Given the description of an element on the screen output the (x, y) to click on. 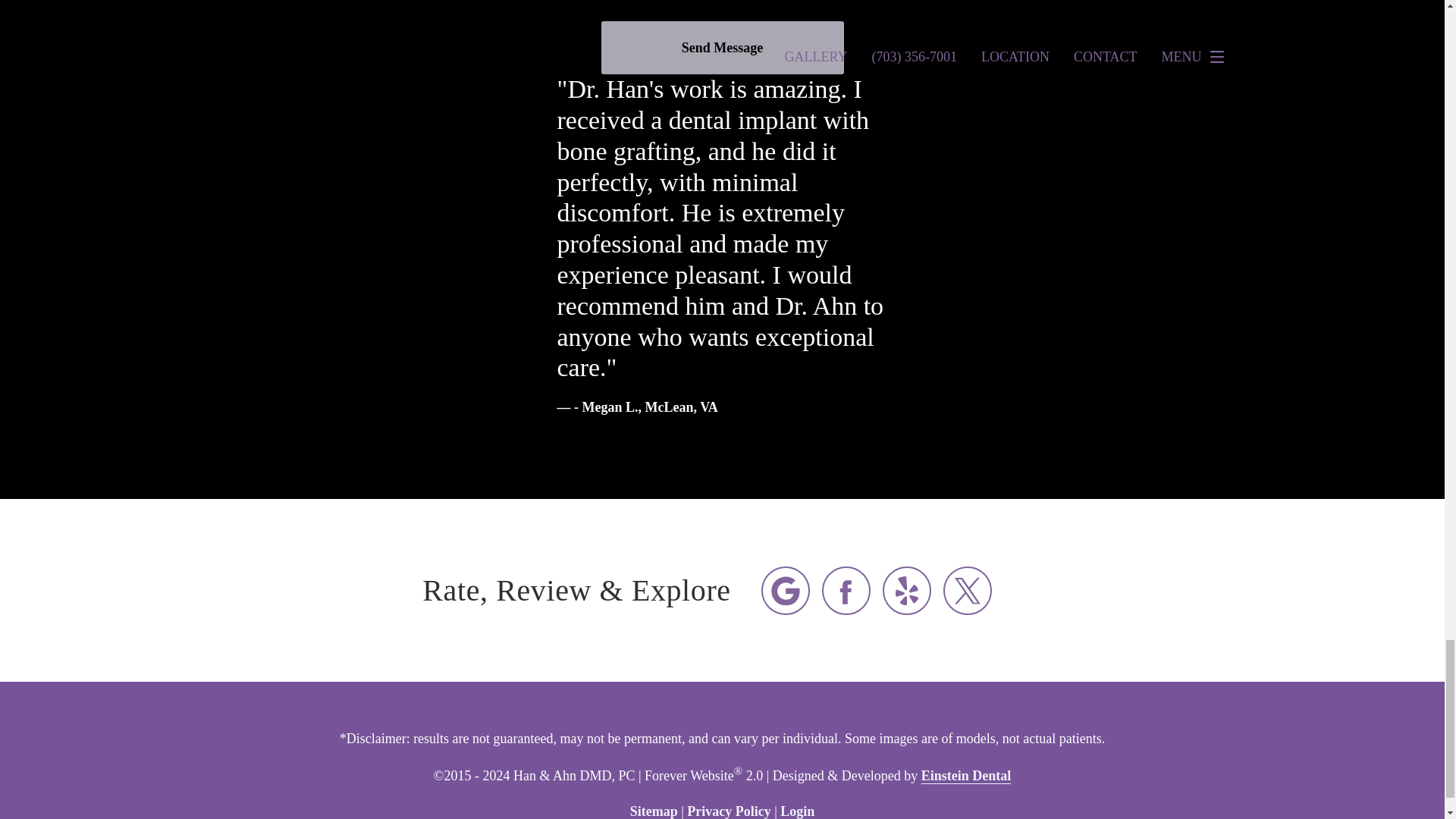
Send Message (721, 47)
Google (785, 589)
Twitter (967, 589)
Facebook (846, 589)
Yelp (906, 589)
